Given the description of an element on the screen output the (x, y) to click on. 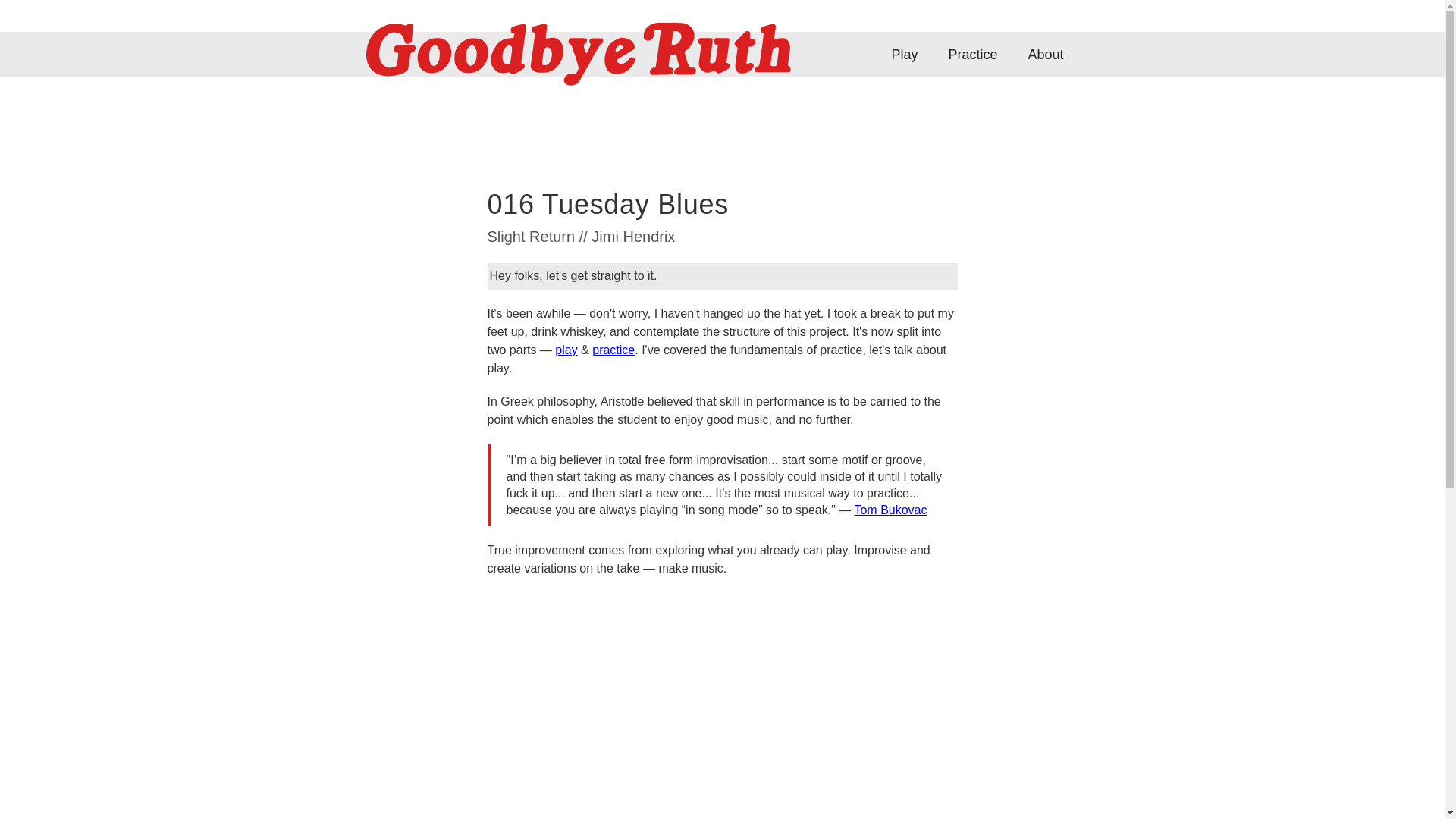
Tom Bukovac (889, 509)
About (1044, 54)
Play (904, 54)
play (565, 349)
Practice (972, 54)
practice (613, 349)
